Given the description of an element on the screen output the (x, y) to click on. 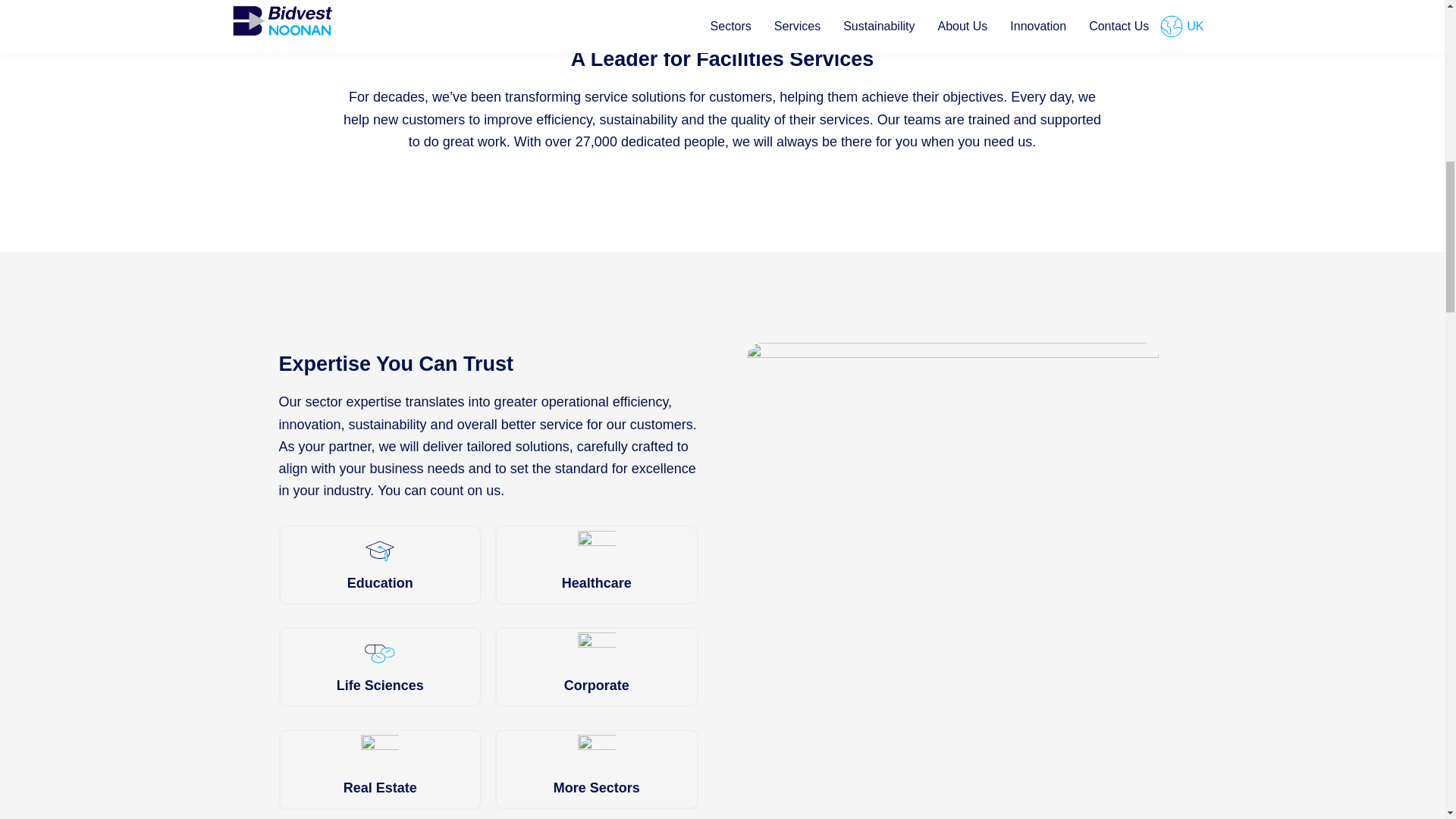
Real Estate (380, 769)
Education (380, 565)
Life Sciences (380, 666)
